Given the description of an element on the screen output the (x, y) to click on. 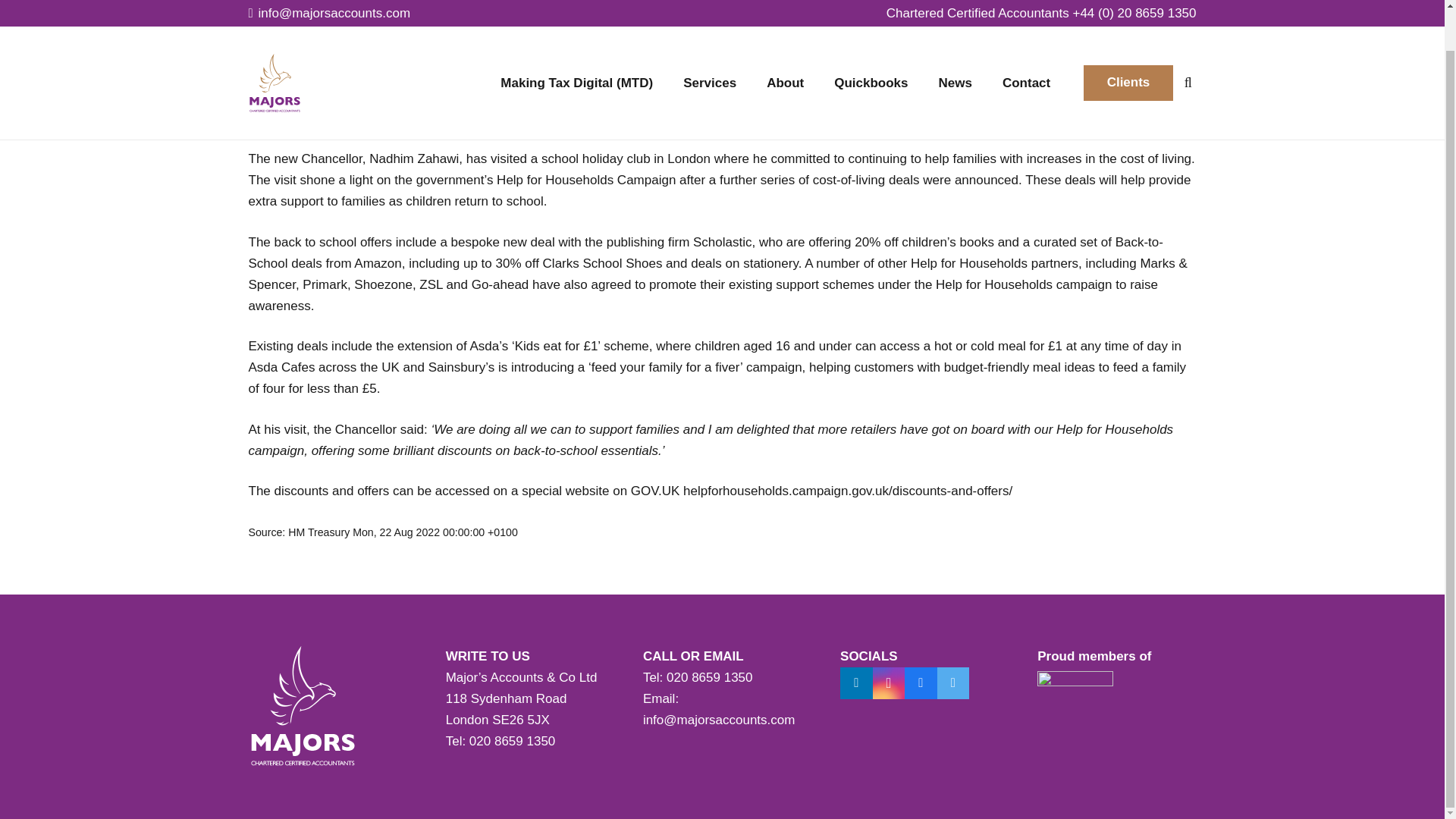
Facebook (920, 683)
Instagram (888, 683)
Twitter (953, 683)
Quickbooks (870, 48)
LinkedIn (856, 683)
Clients (1128, 40)
